Given the description of an element on the screen output the (x, y) to click on. 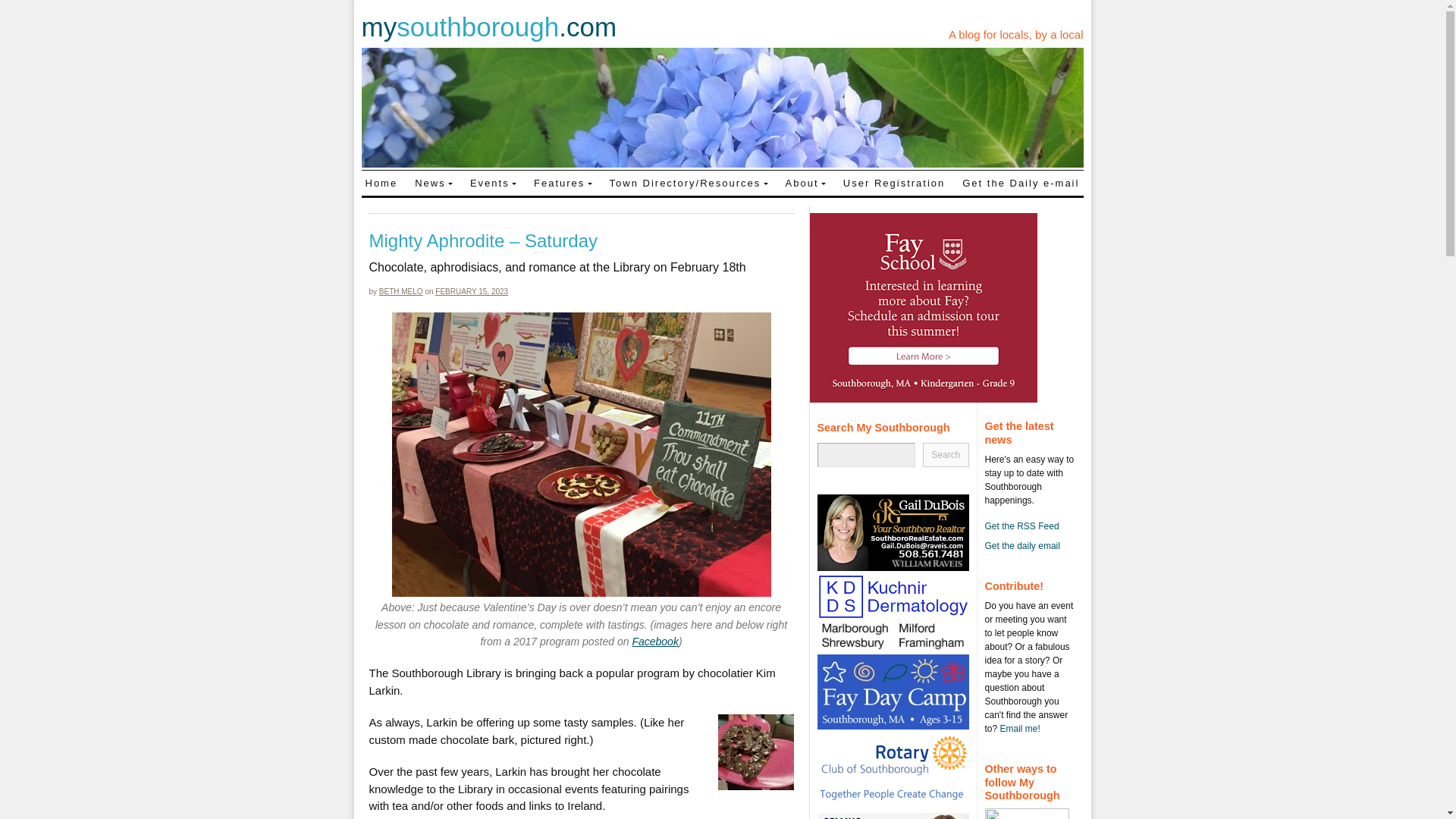
Events (492, 182)
Features (562, 182)
mysouthborough.com (488, 26)
Home (381, 182)
A blog for locals, by a local (1016, 33)
Events (492, 182)
News (433, 182)
News (433, 182)
Home (381, 182)
